Given the description of an element on the screen output the (x, y) to click on. 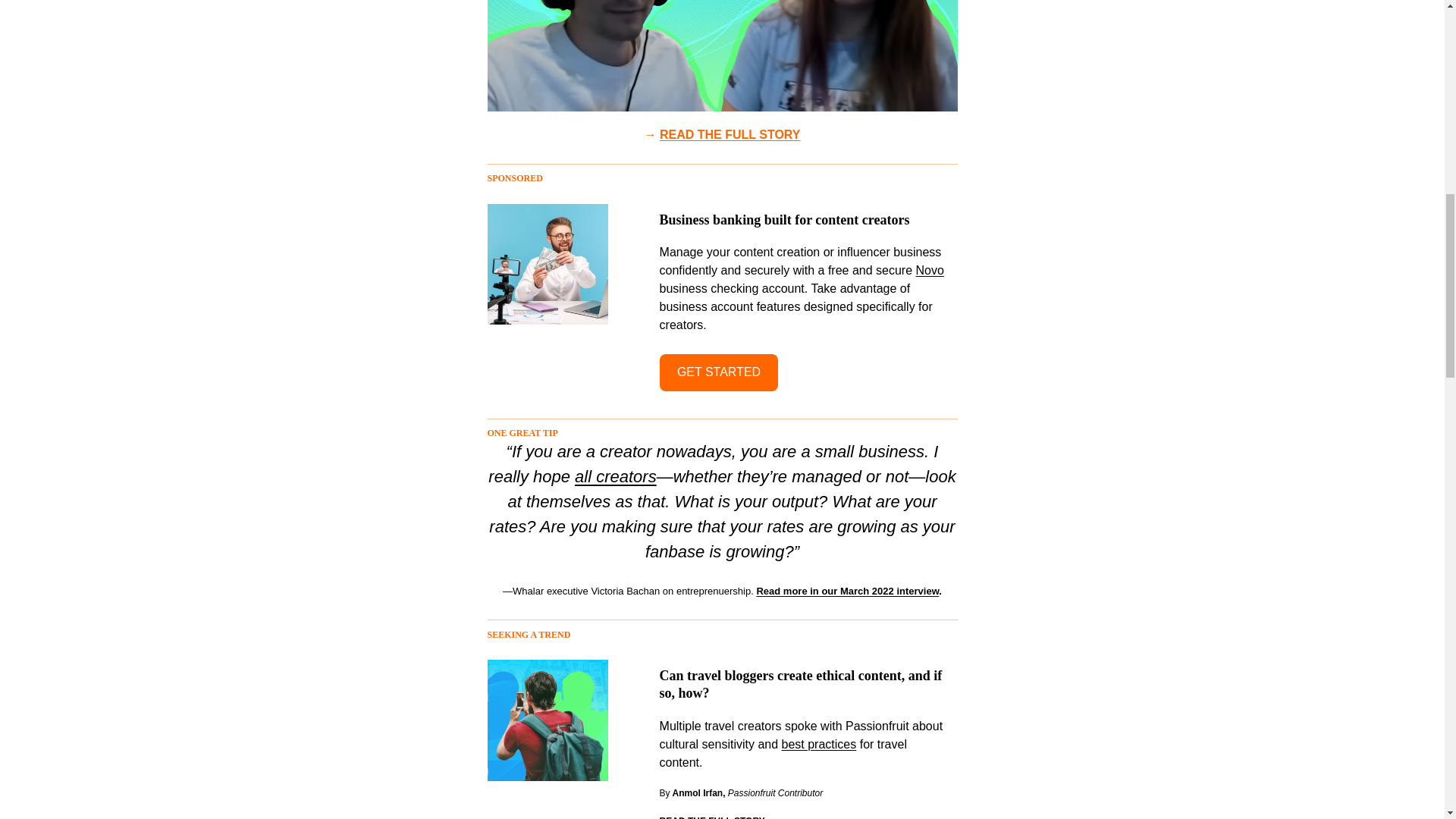
best practices (819, 744)
all creators (615, 476)
GET STARTED (718, 372)
READ THE FULL STORY (729, 133)
Read more in our March 2022 interview (847, 591)
Novo (929, 269)
READ THE FULL STORY (712, 817)
